Given the description of an element on the screen output the (x, y) to click on. 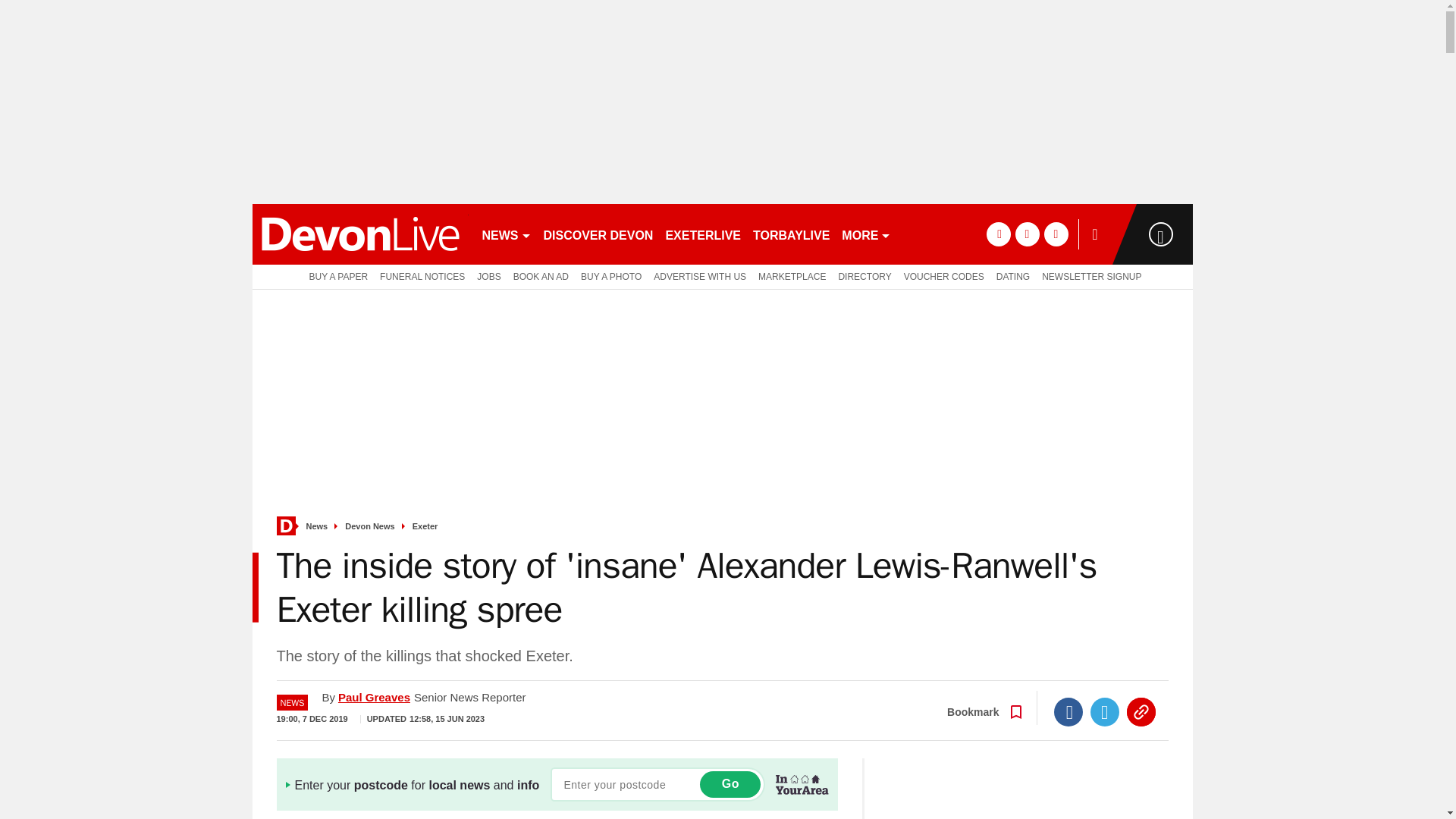
Go (730, 784)
Twitter (1104, 711)
facebook (997, 233)
EXETERLIVE (702, 233)
DISCOVER DEVON (598, 233)
MORE (865, 233)
NEWS (506, 233)
devonlive (359, 233)
TORBAYLIVE (790, 233)
Facebook (1068, 711)
